Given the description of an element on the screen output the (x, y) to click on. 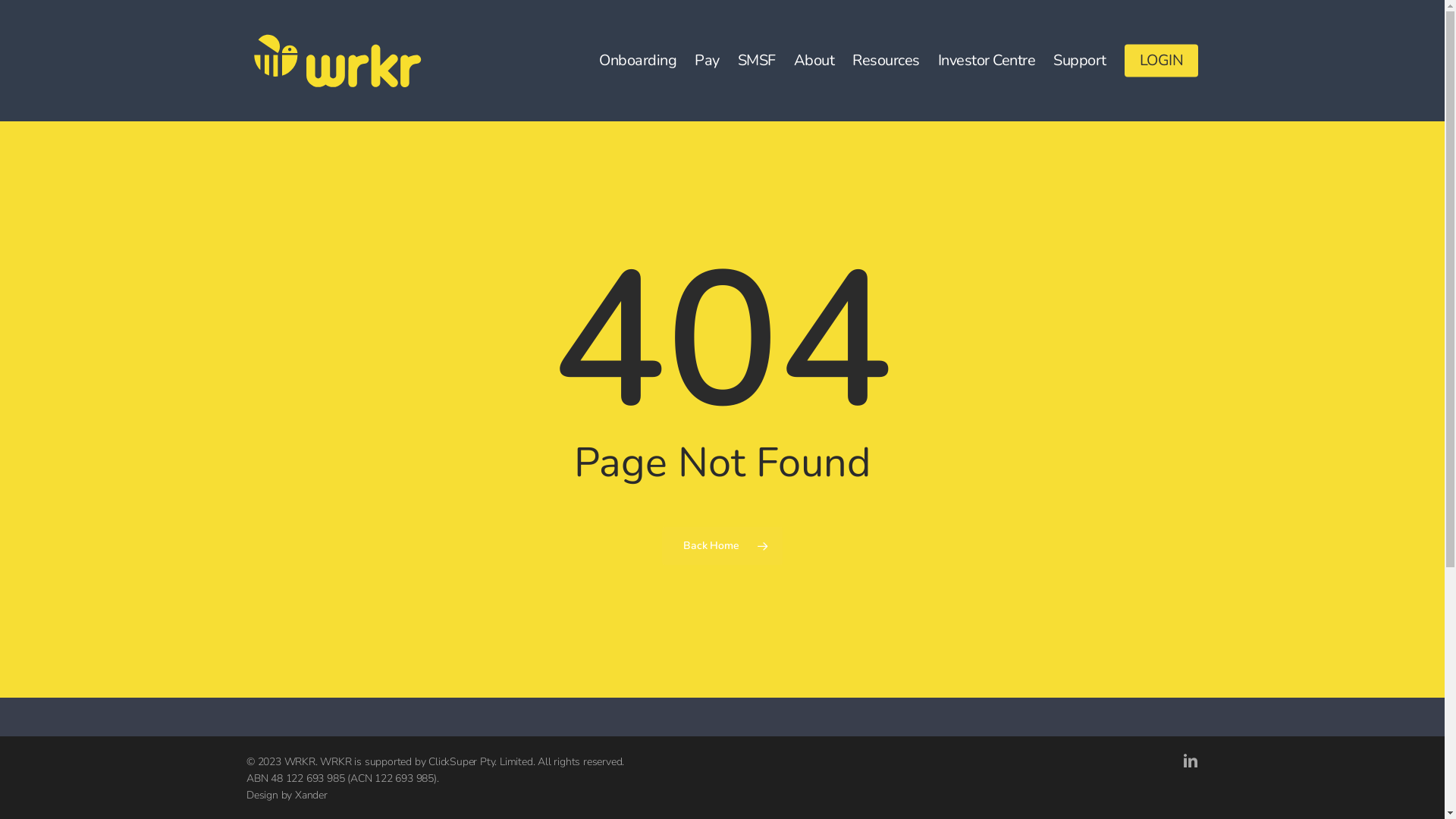
Investor Centre Element type: text (986, 60)
Support Element type: text (1079, 60)
Support Element type: text (691, 641)
SMSF Element type: text (756, 60)
LOGIN Element type: text (1160, 60)
SMSF LOGIN Element type: text (311, 420)
Investor Centre Element type: text (691, 569)
Resources Element type: text (691, 544)
Company Information Element type: text (698, 613)
Privacy Policy Element type: text (895, 444)
Resources Element type: text (885, 60)
Onboarding Element type: text (637, 60)
Terms of Service Element type: text (895, 513)
Investor Hub Element type: text (698, 588)
SMSF Hub Terms and Conditions Element type: text (895, 479)
Pay Element type: text (691, 469)
Onboarding Element type: text (691, 444)
About Element type: text (813, 60)
About Element type: text (691, 519)
SMSF Element type: text (691, 494)
Back Home Element type: text (721, 545)
Pay Element type: text (706, 60)
linkedin Element type: text (1190, 760)
LOGIN Element type: text (691, 666)
Xander Element type: text (310, 794)
